Given the description of an element on the screen output the (x, y) to click on. 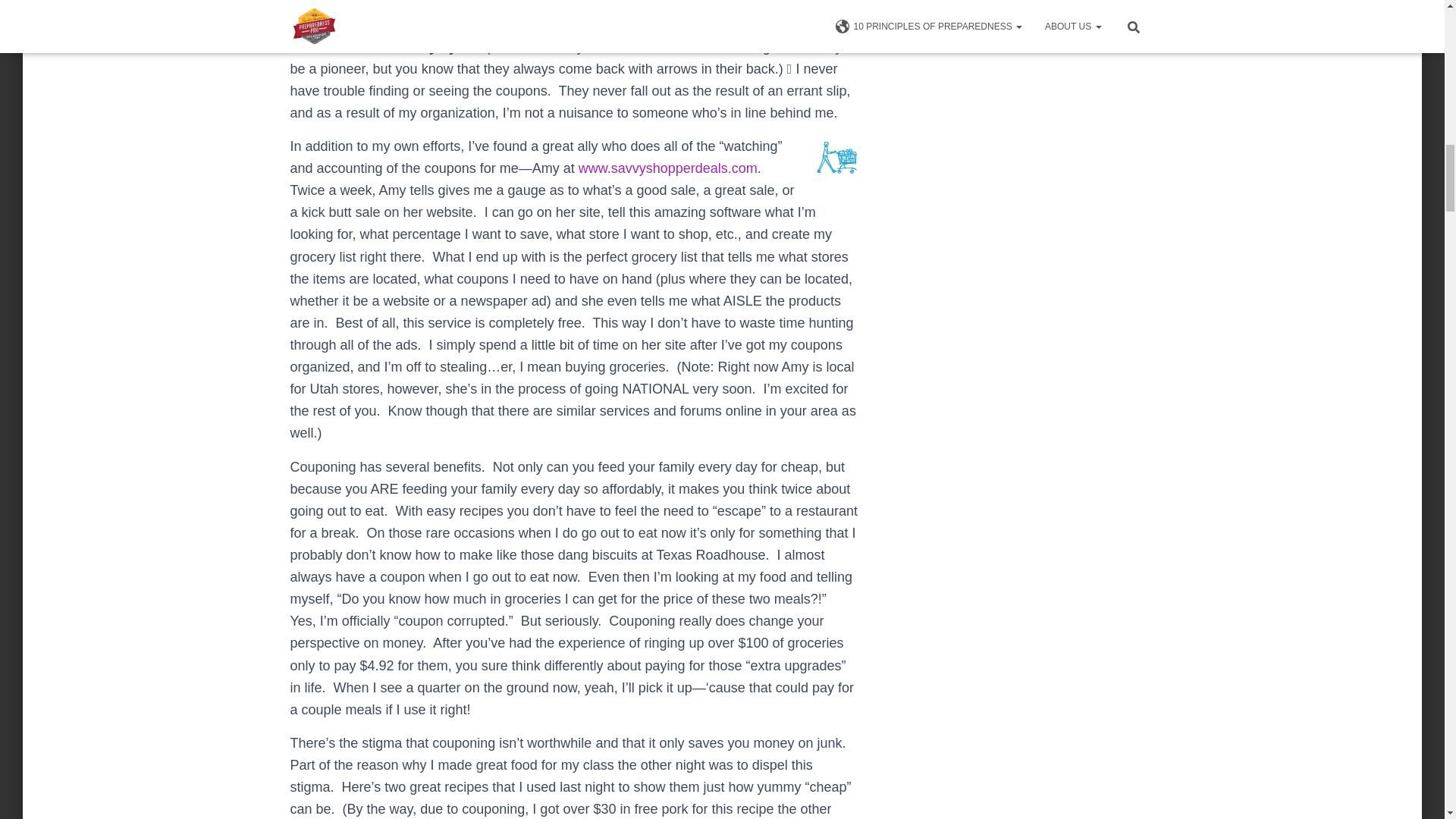
www.savvyshopperdeals.com (667, 168)
